Given the description of an element on the screen output the (x, y) to click on. 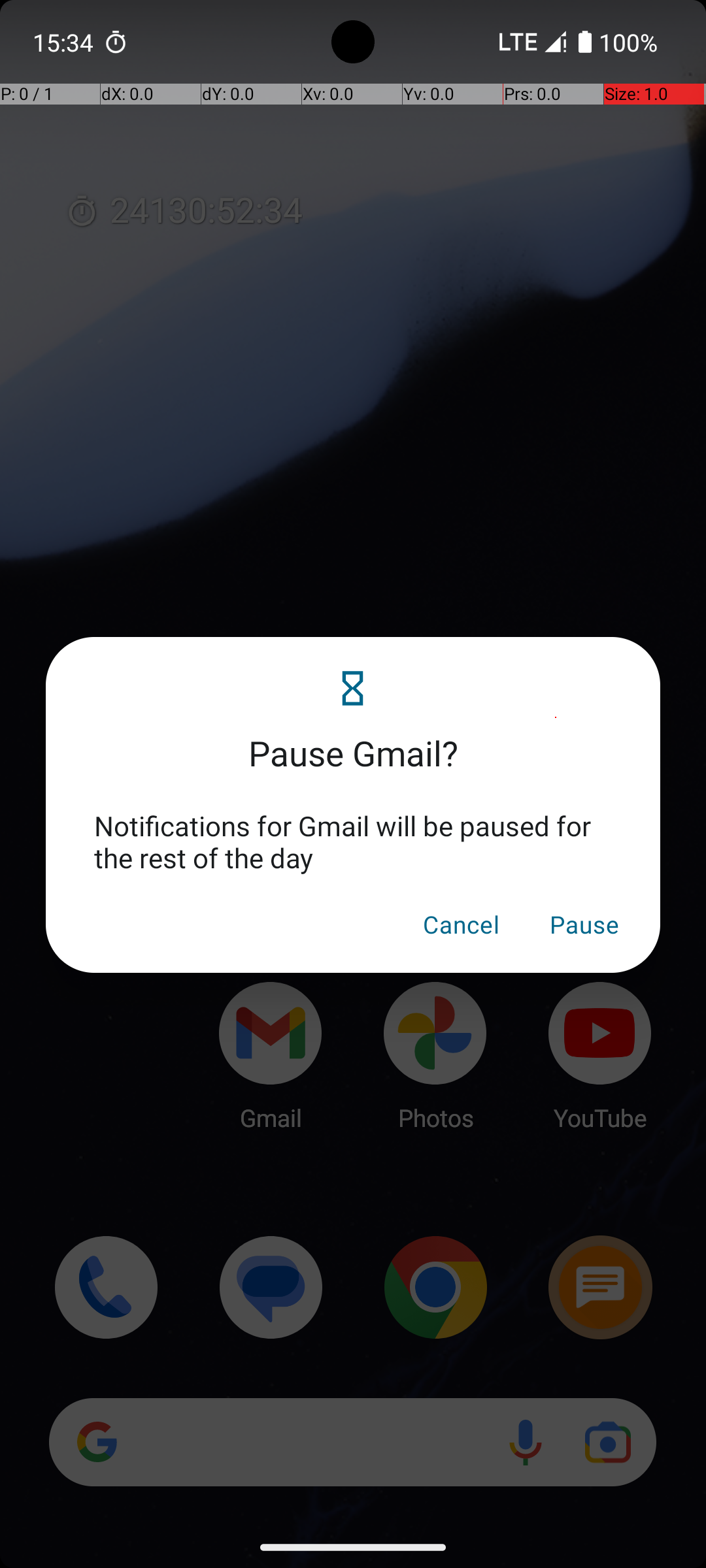
Pause Gmail? Element type: android.widget.TextView (352, 736)
Notifications for Gmail will be paused for the rest of the day Element type: android.widget.TextView (352, 841)
Pause Element type: android.widget.Button (584, 924)
